Given the description of an element on the screen output the (x, y) to click on. 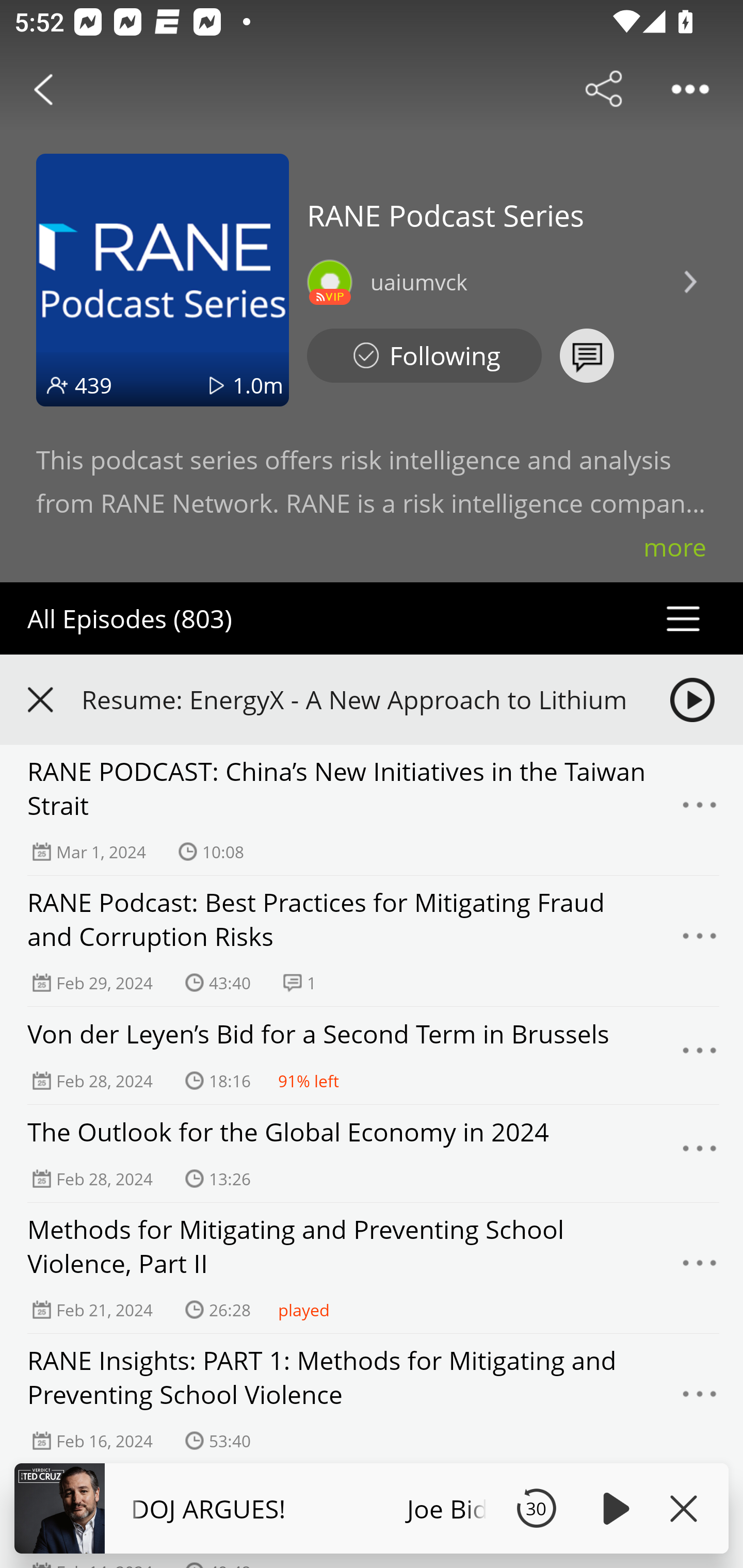
Back (43, 88)
Podbean Following (423, 355)
439 (93, 384)
more (674, 546)
Resume: EnergyX - A New Approach to Lithium (371, 698)
Resume: EnergyX - A New Approach to Lithium (357, 698)
Menu (699, 809)
Menu (699, 941)
Menu (699, 1055)
Menu (699, 1153)
Menu (699, 1268)
Menu (699, 1399)
Play (613, 1507)
30 Seek Backward (536, 1508)
